Given the description of an element on the screen output the (x, y) to click on. 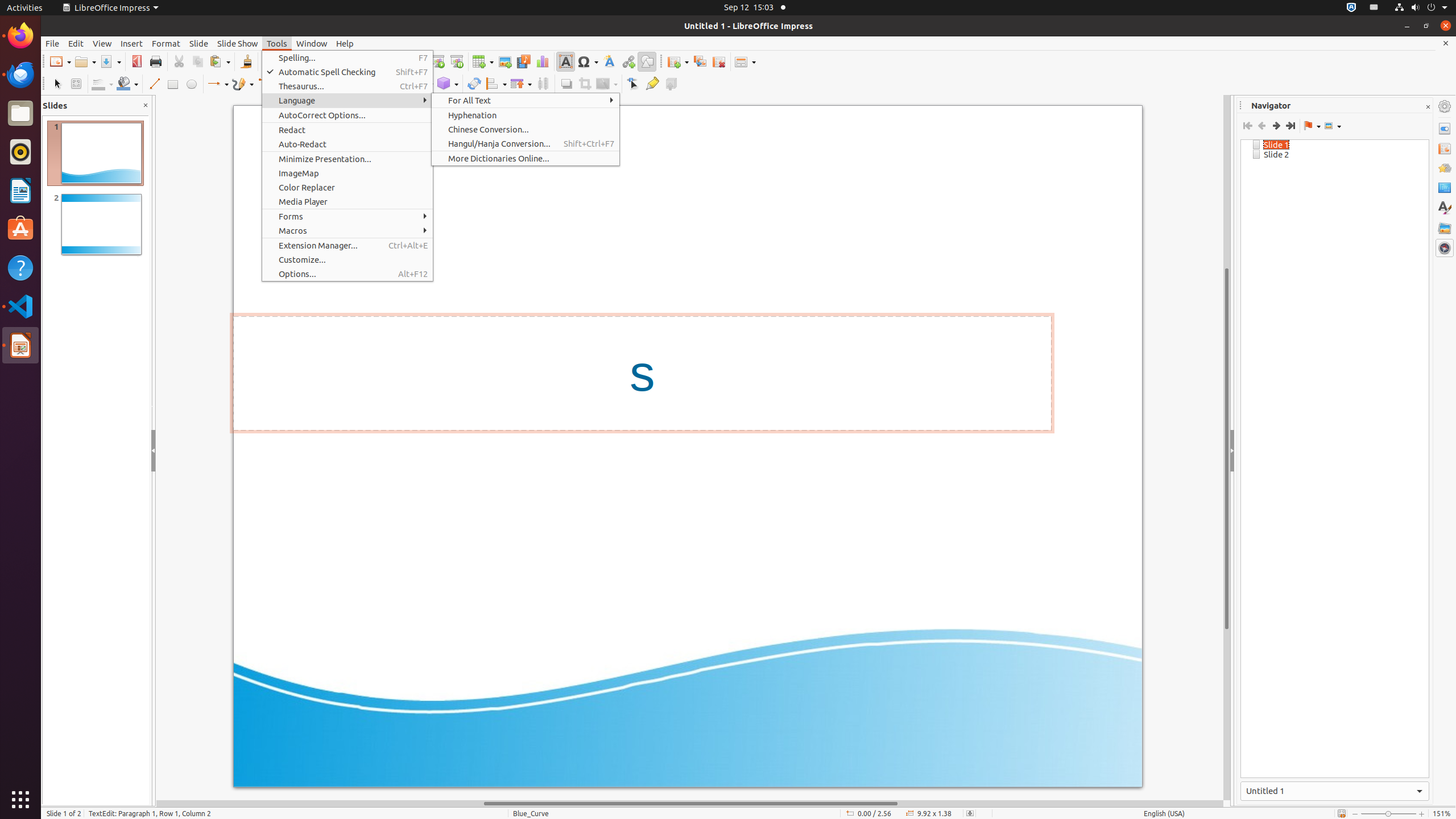
Macros Element type: menu (347, 230)
Line Element type: push-button (153, 83)
Slide Transition Element type: radio-button (1444, 148)
Extension Manager... Element type: menu-item (347, 245)
